Given the description of an element on the screen output the (x, y) to click on. 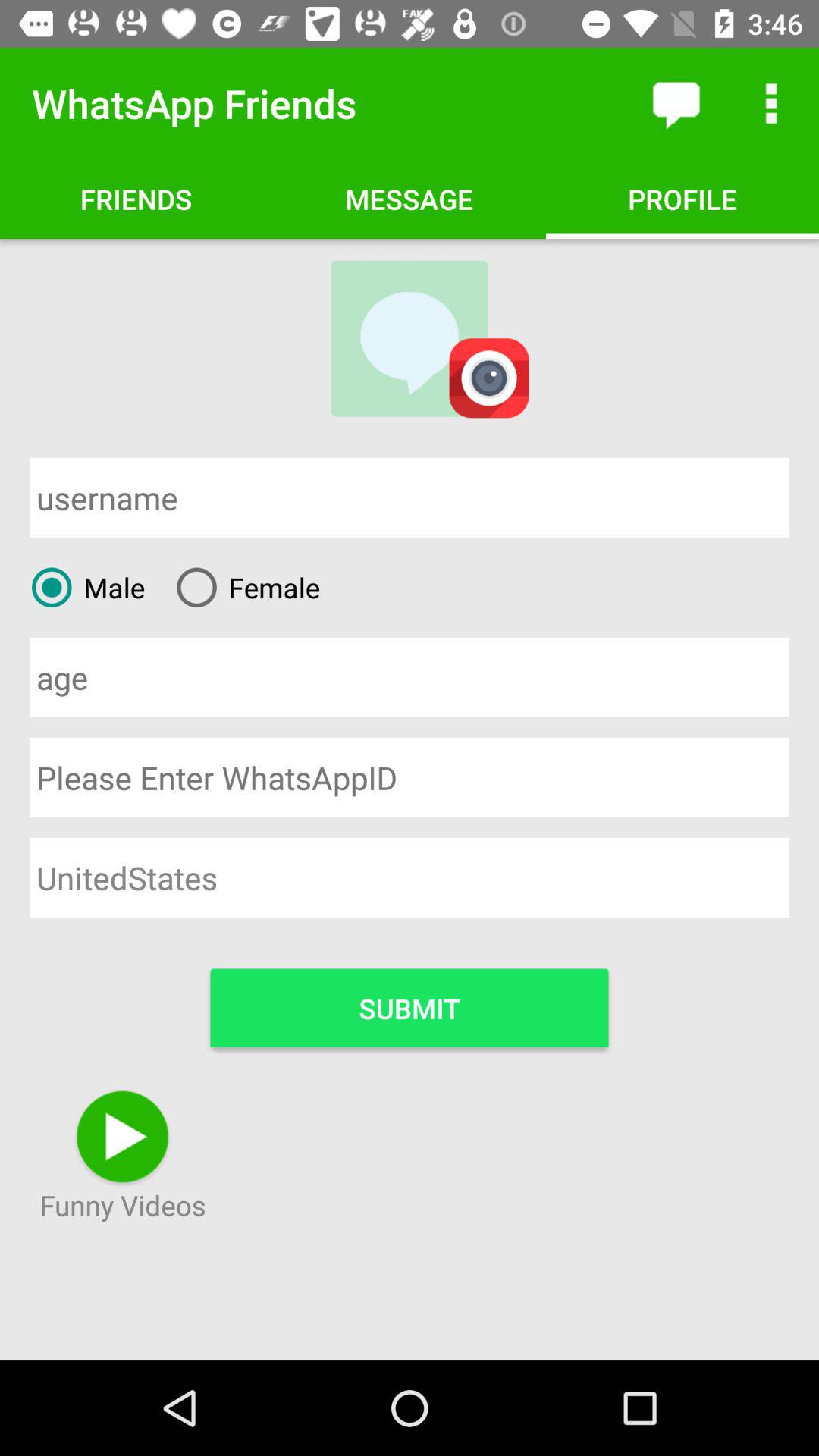
launch the item to the right of male (242, 587)
